Given the description of an element on the screen output the (x, y) to click on. 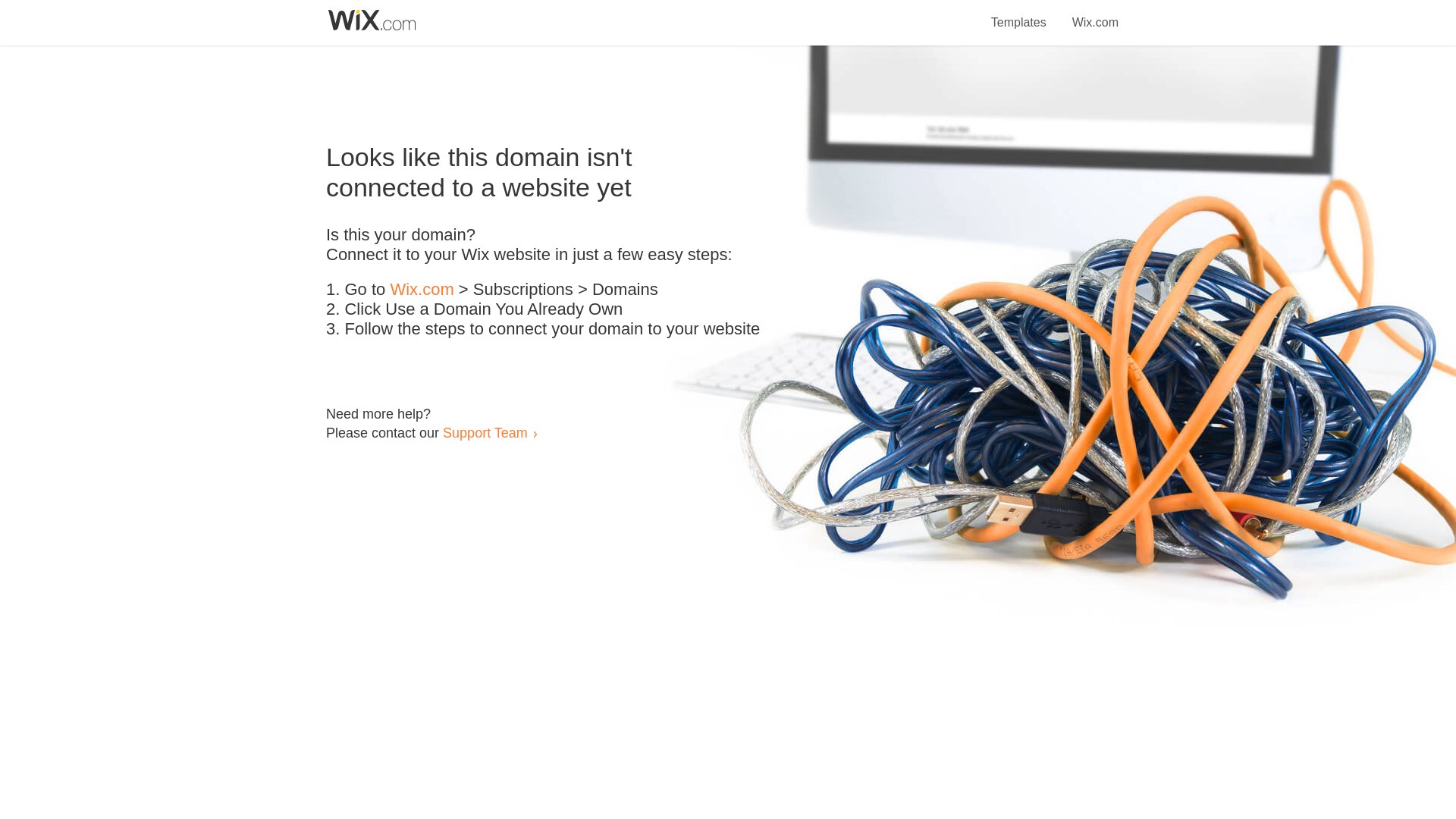
Wix.com (1095, 14)
Support Team (484, 432)
Wix.com (421, 289)
Templates (1018, 14)
